Given the description of an element on the screen output the (x, y) to click on. 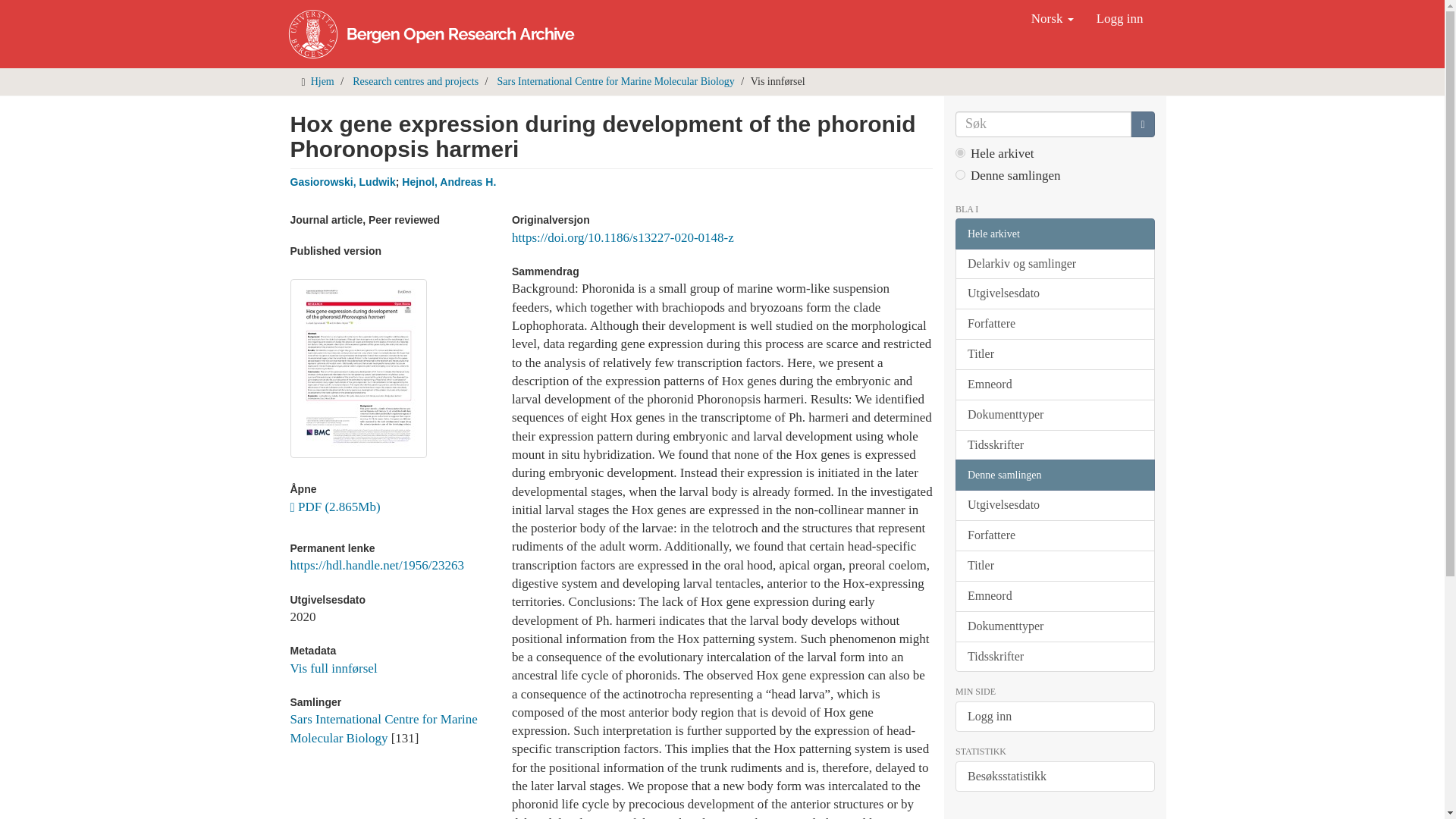
Gasiorowski, Ludwik (341, 182)
Forfattere (1054, 323)
Hele arkivet (1054, 233)
Delarkiv og samlinger (1054, 264)
Sars International Centre for Marine Molecular Biology (383, 727)
Hejnol, Andreas H. (448, 182)
Sars International Centre for Marine Molecular Biology (616, 81)
Utgivelsesdato (1054, 293)
Titler (1054, 354)
Norsk  (1052, 18)
Logg inn (1119, 18)
Hjem (322, 81)
Research centres and projects (415, 81)
